Given the description of an element on the screen output the (x, y) to click on. 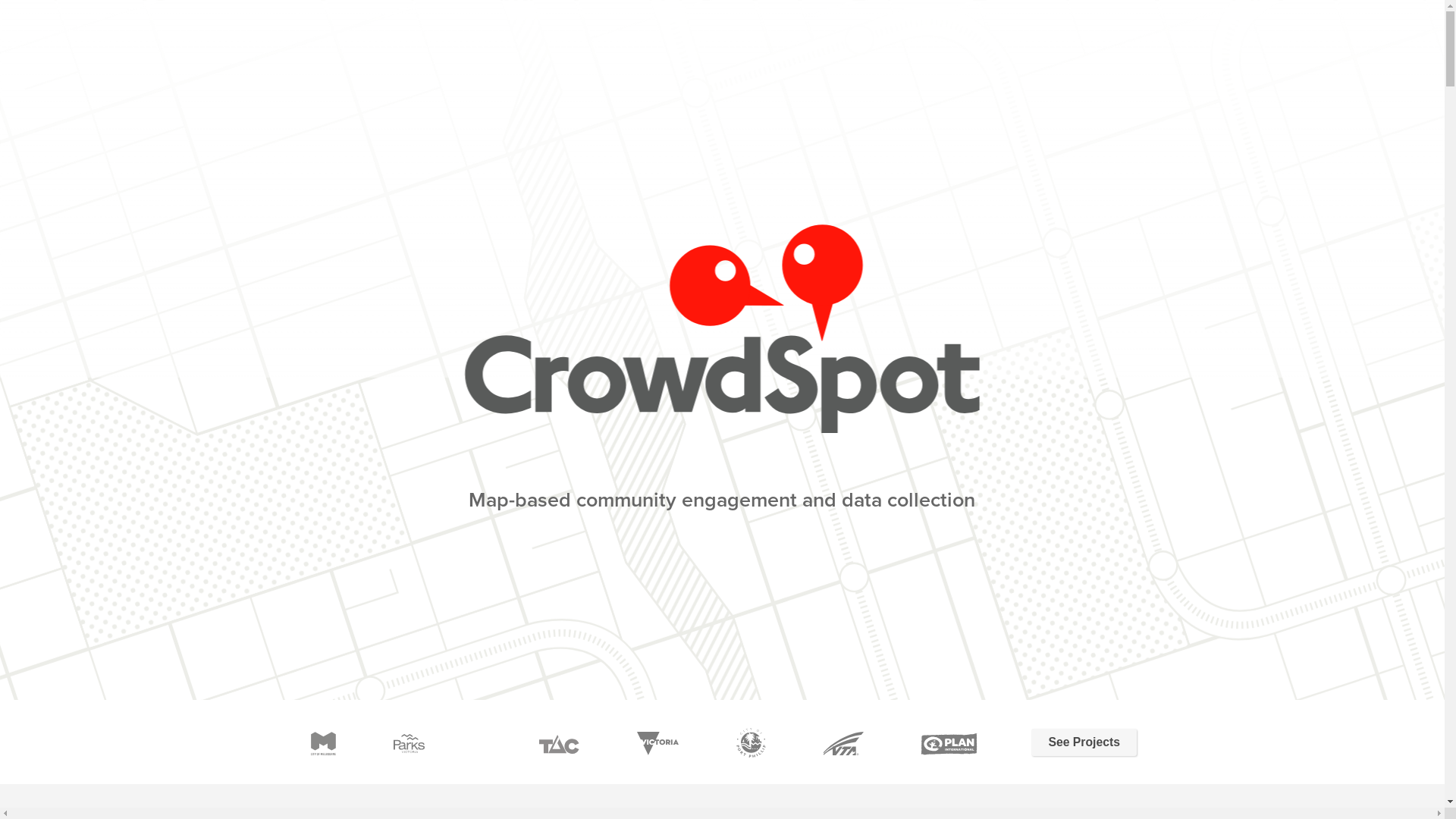
See Projects Element type: text (1083, 742)
